Given the description of an element on the screen output the (x, y) to click on. 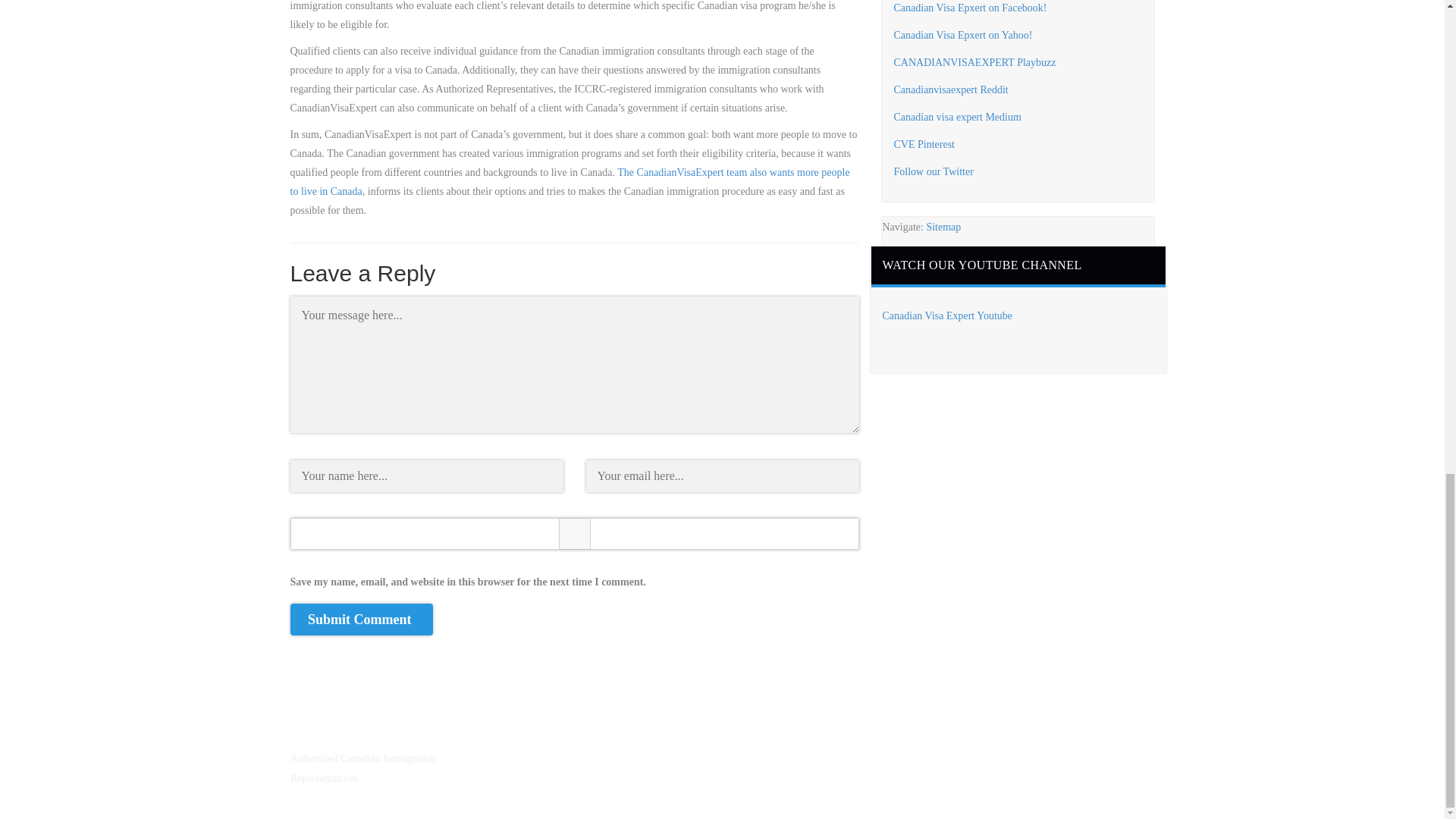
Submit Comment (360, 619)
Canadian Visa Epxert on Yahoo! (962, 34)
Canadian Visa Epxert on Facebook! (969, 7)
CVE Pinterest (924, 143)
Authorized Canadian Immigration Representatives (362, 767)
Sitemap (943, 226)
yes (574, 533)
Canadian visa expert Medium (956, 116)
Canadian Visa Expert Youtube (947, 315)
CANADIANVISAEXPERT Playbuzz (974, 61)
